Given the description of an element on the screen output the (x, y) to click on. 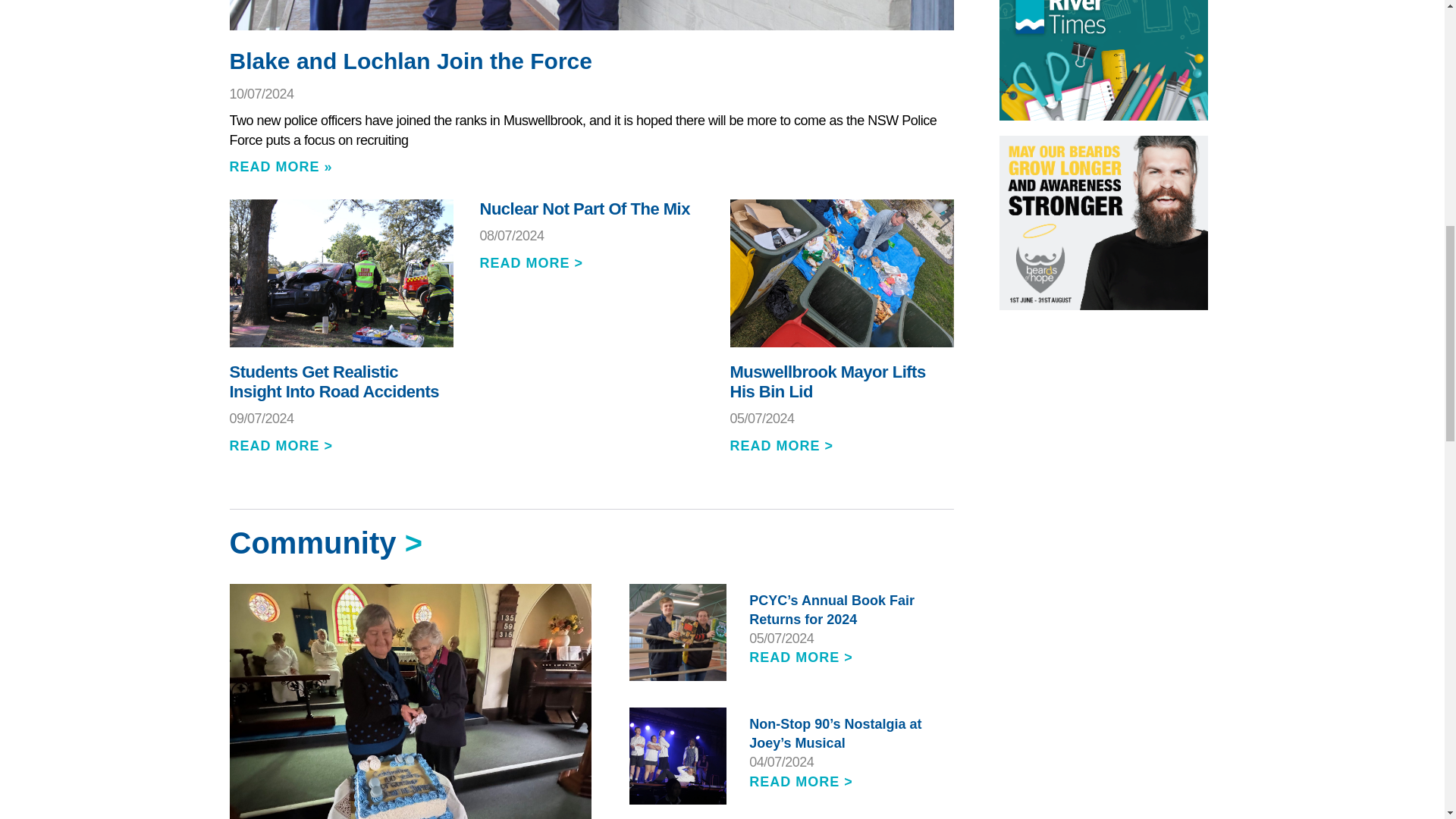
Home 7 (676, 755)
Home 3 (339, 272)
Home 16 (1103, 60)
Home 5 (408, 638)
Home 17 (1103, 222)
Home 2 (584, 14)
Home 6 (676, 631)
